Given the description of an element on the screen output the (x, y) to click on. 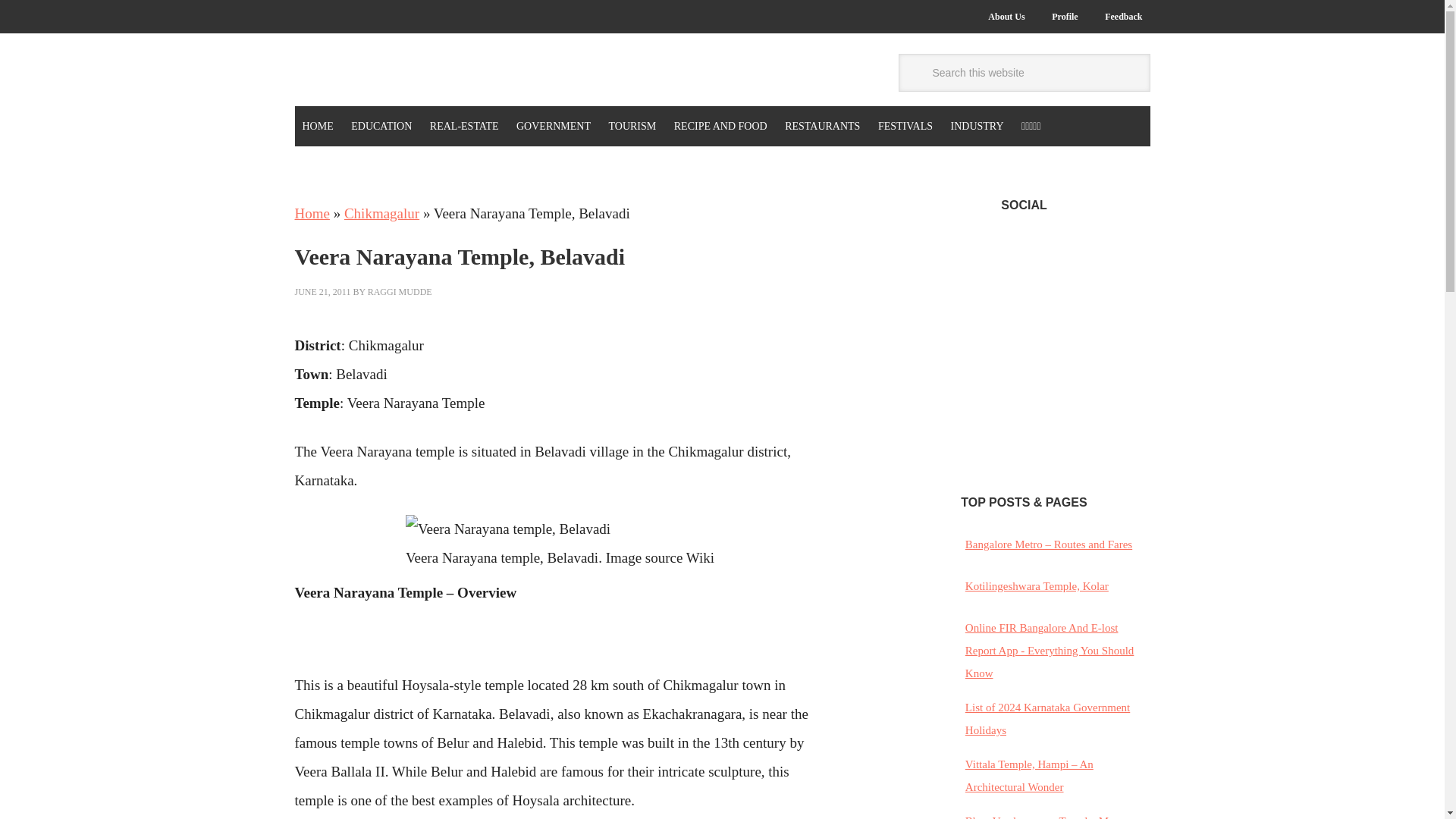
TOURISM (631, 126)
HOME (317, 126)
Kotilingeshwara Temple, Kolar (1036, 585)
Chikmagalur (381, 213)
RECIPE AND FOOD (720, 126)
Home (311, 213)
Profile (1064, 16)
About Us (1005, 16)
EDUCATION (381, 126)
